Given the description of an element on the screen output the (x, y) to click on. 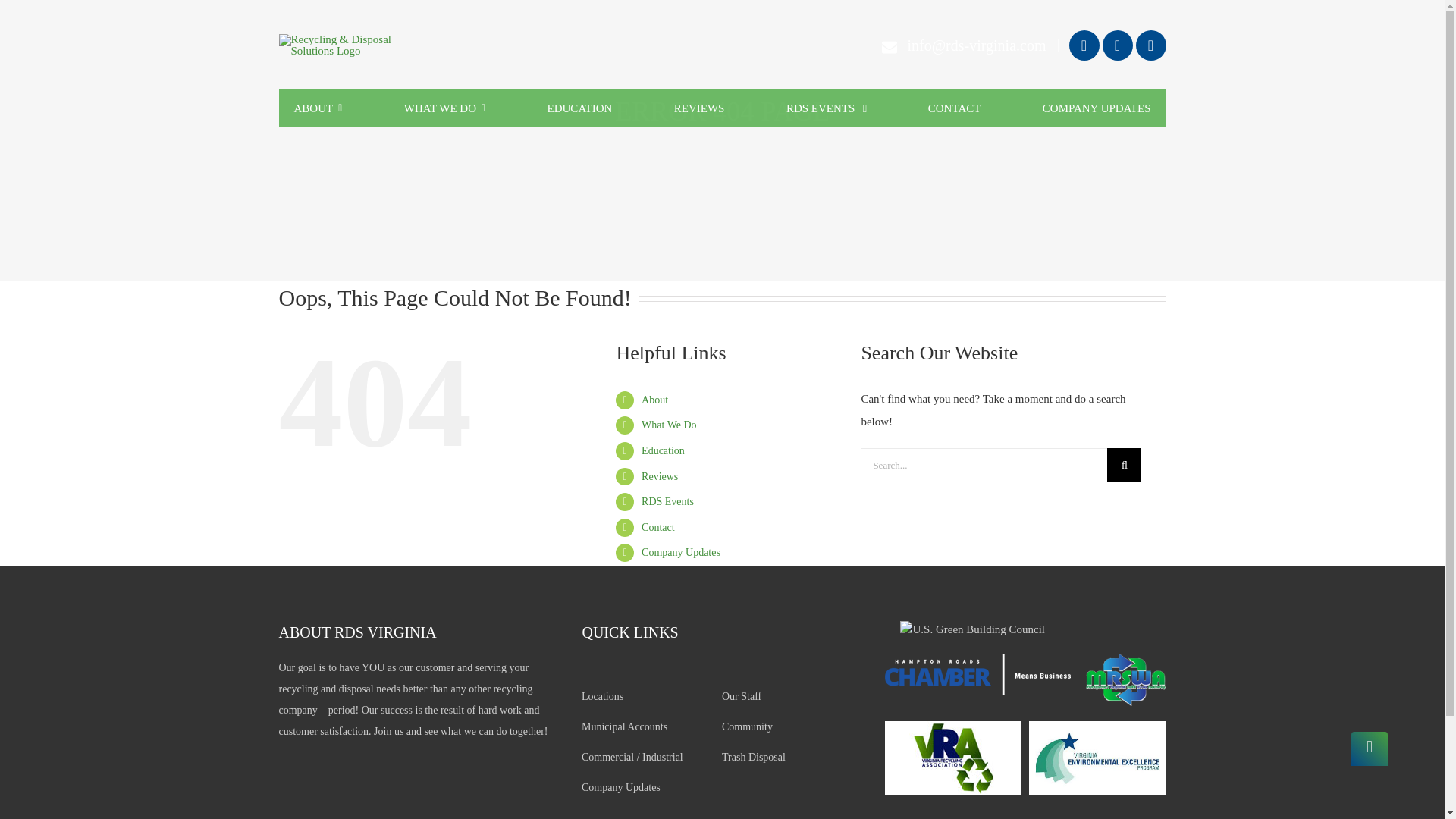
EDUCATION (579, 108)
Company Updates (681, 552)
CONTACT (953, 108)
Locations (650, 696)
COMPANY UPDATES (1096, 108)
Education (663, 450)
Municipal Accounts (650, 726)
WHAT WE DO (444, 108)
RDS EVENTS (825, 108)
About (655, 399)
